Given the description of an element on the screen output the (x, y) to click on. 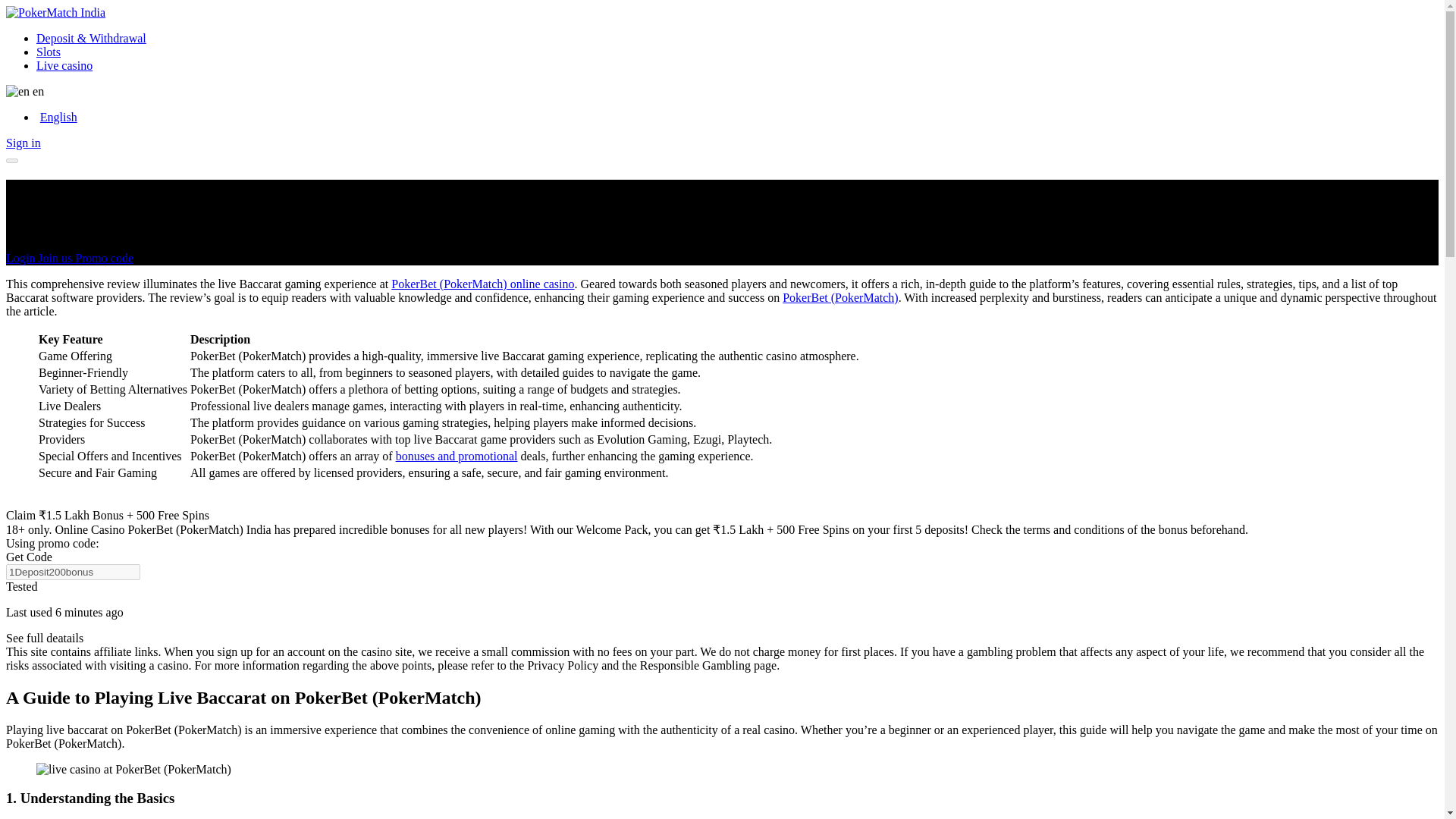
Sign in (22, 142)
bonuses and promotional (457, 455)
Promo code (104, 257)
Live casino (64, 65)
Login (21, 257)
English (56, 116)
Slots (48, 51)
1Deposit200bonus (72, 571)
Join us (56, 257)
